Given the description of an element on the screen output the (x, y) to click on. 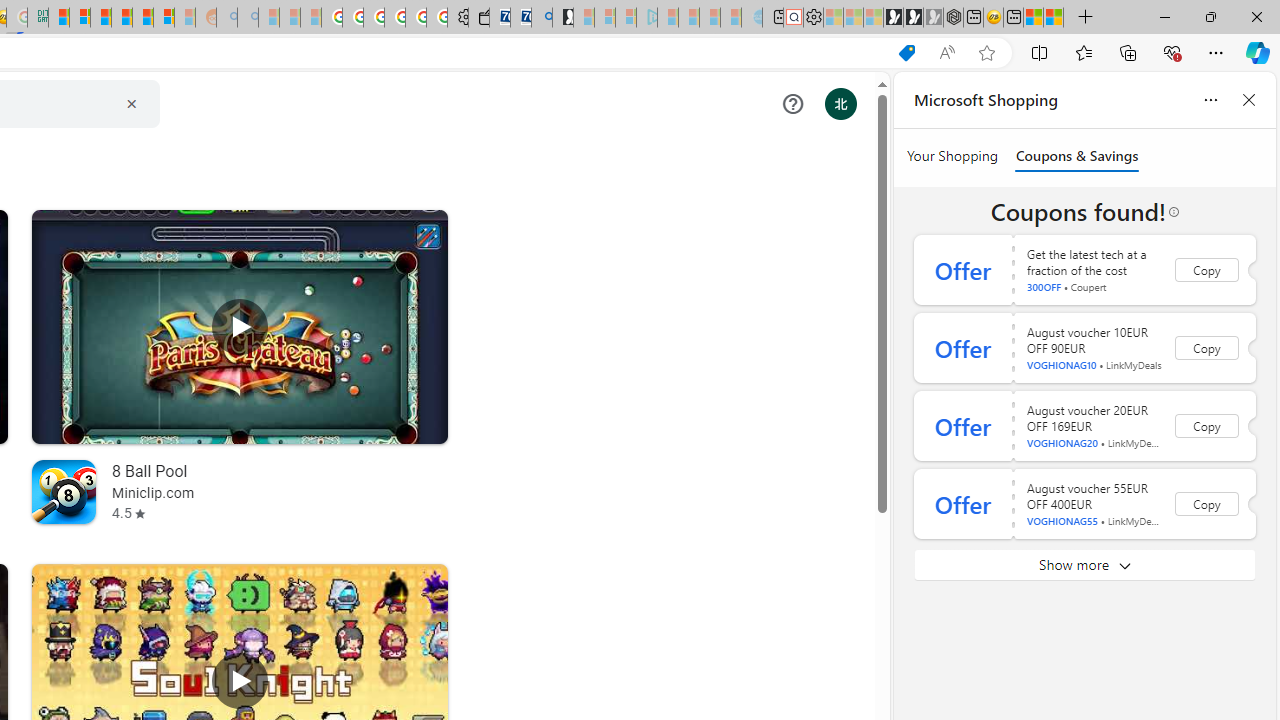
Browser essentials (1171, 52)
Split screen (1039, 52)
Play 8 Ball Pool (239, 326)
Microsoft account | Privacy (79, 17)
Read aloud this page (Ctrl+Shift+U) (946, 53)
Play Free Online Games | Games from Microsoft Start (893, 17)
Settings and more (Alt+F) (1215, 52)
Bing Real Estate - Home sales and rental listings (541, 17)
Utah sues federal government - Search - Sleeping (248, 17)
Favorites (1083, 52)
